Given the description of an element on the screen output the (x, y) to click on. 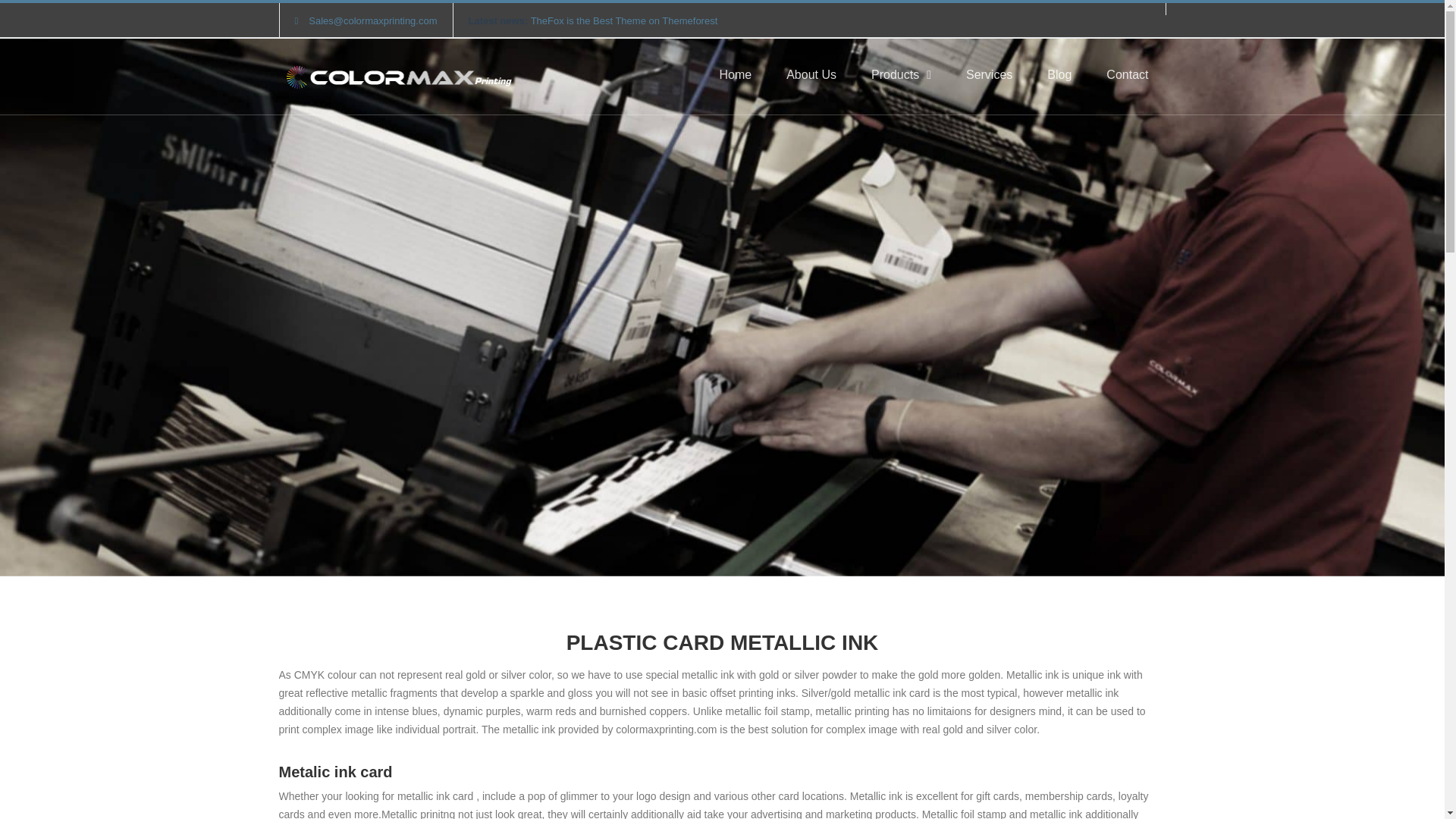
ColorMax Printing (397, 77)
Home (734, 76)
Products (901, 76)
Services (989, 76)
Contact (1127, 76)
About Us (810, 76)
